Given the description of an element on the screen output the (x, y) to click on. 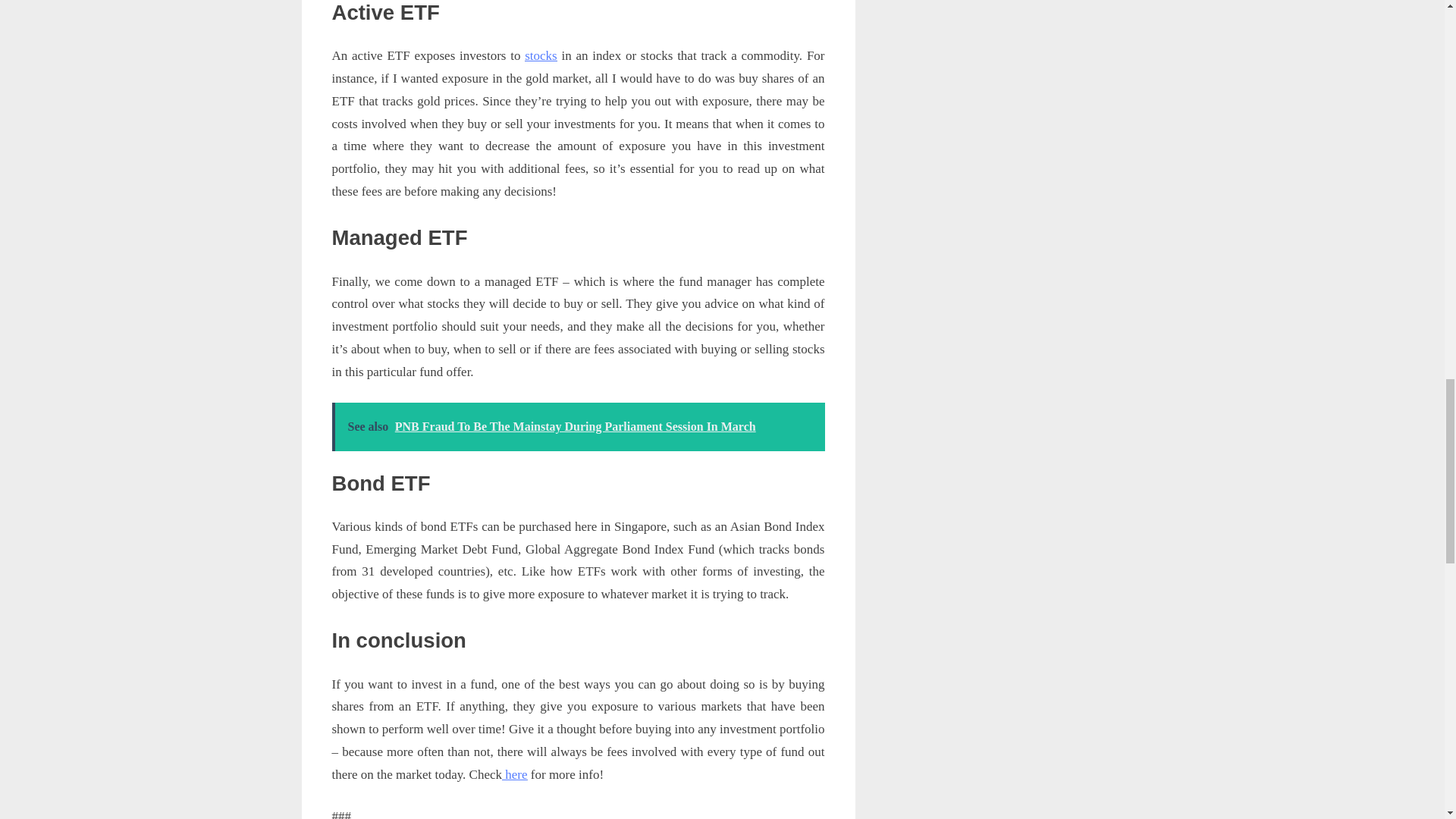
here (514, 774)
stocks (540, 55)
